Given the description of an element on the screen output the (x, y) to click on. 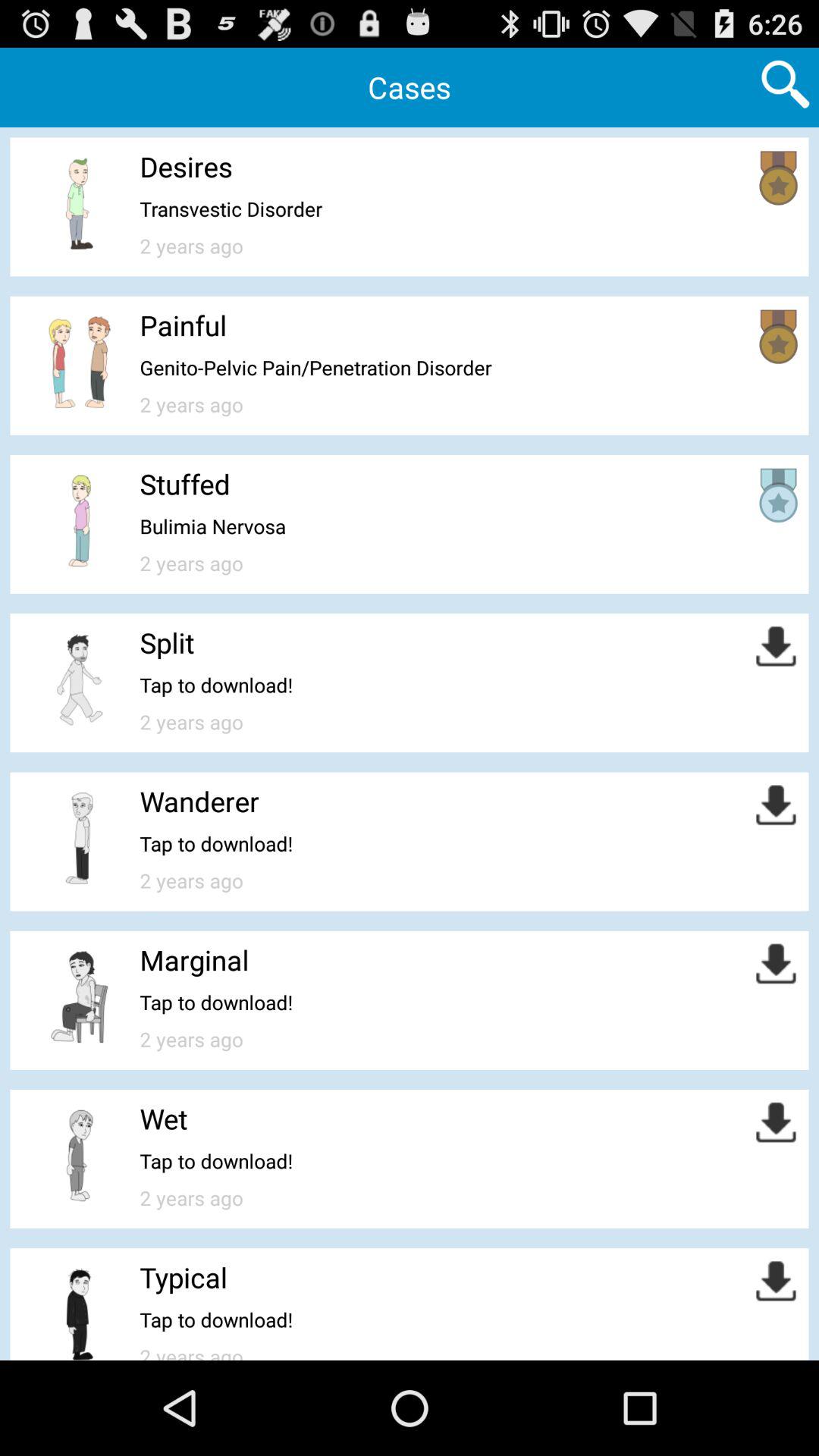
swipe to marginal (194, 959)
